Given the description of an element on the screen output the (x, y) to click on. 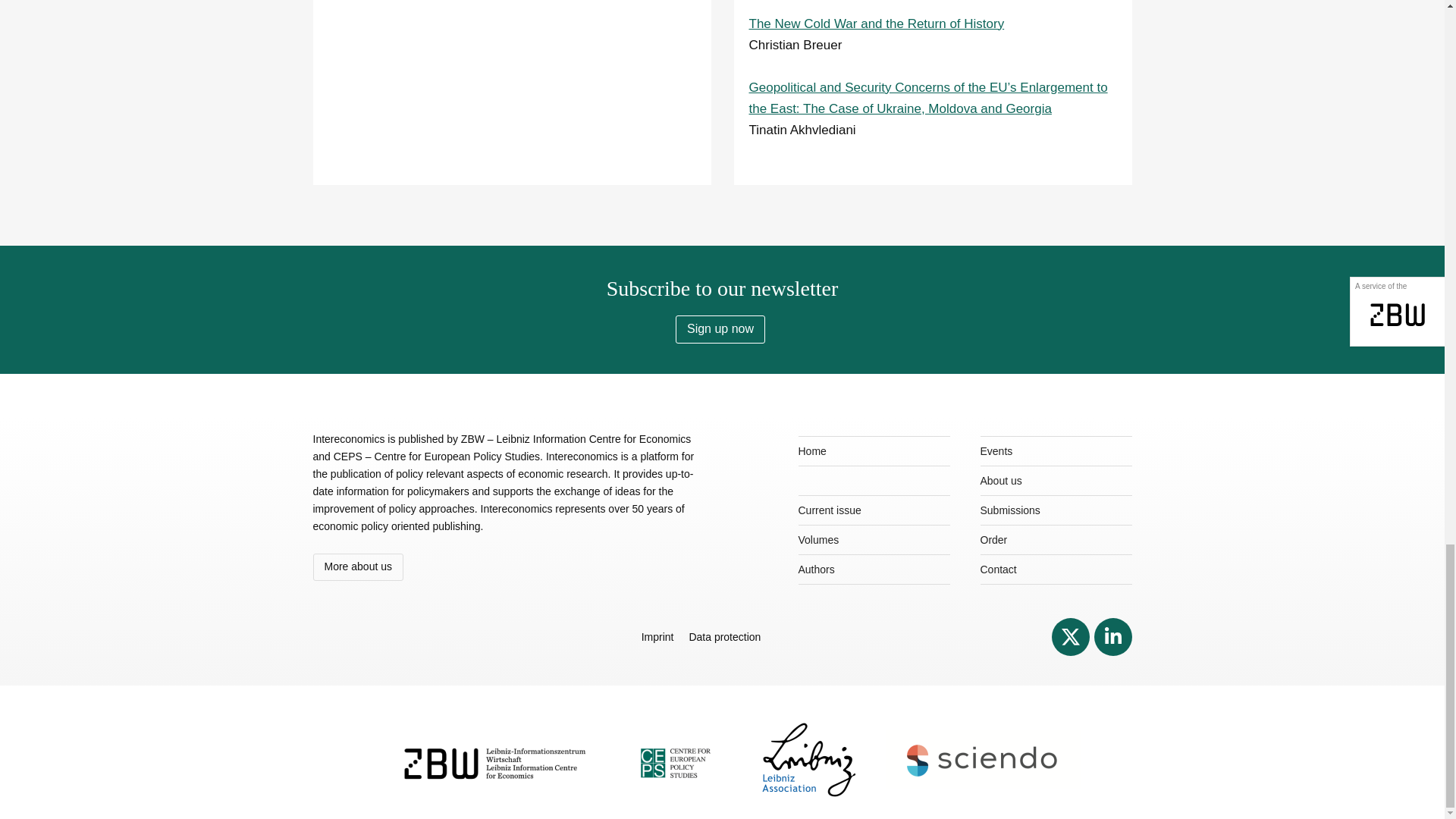
Intereconomics on X (1070, 637)
Intereconomics on LinkedIn (1112, 637)
